Given the description of an element on the screen output the (x, y) to click on. 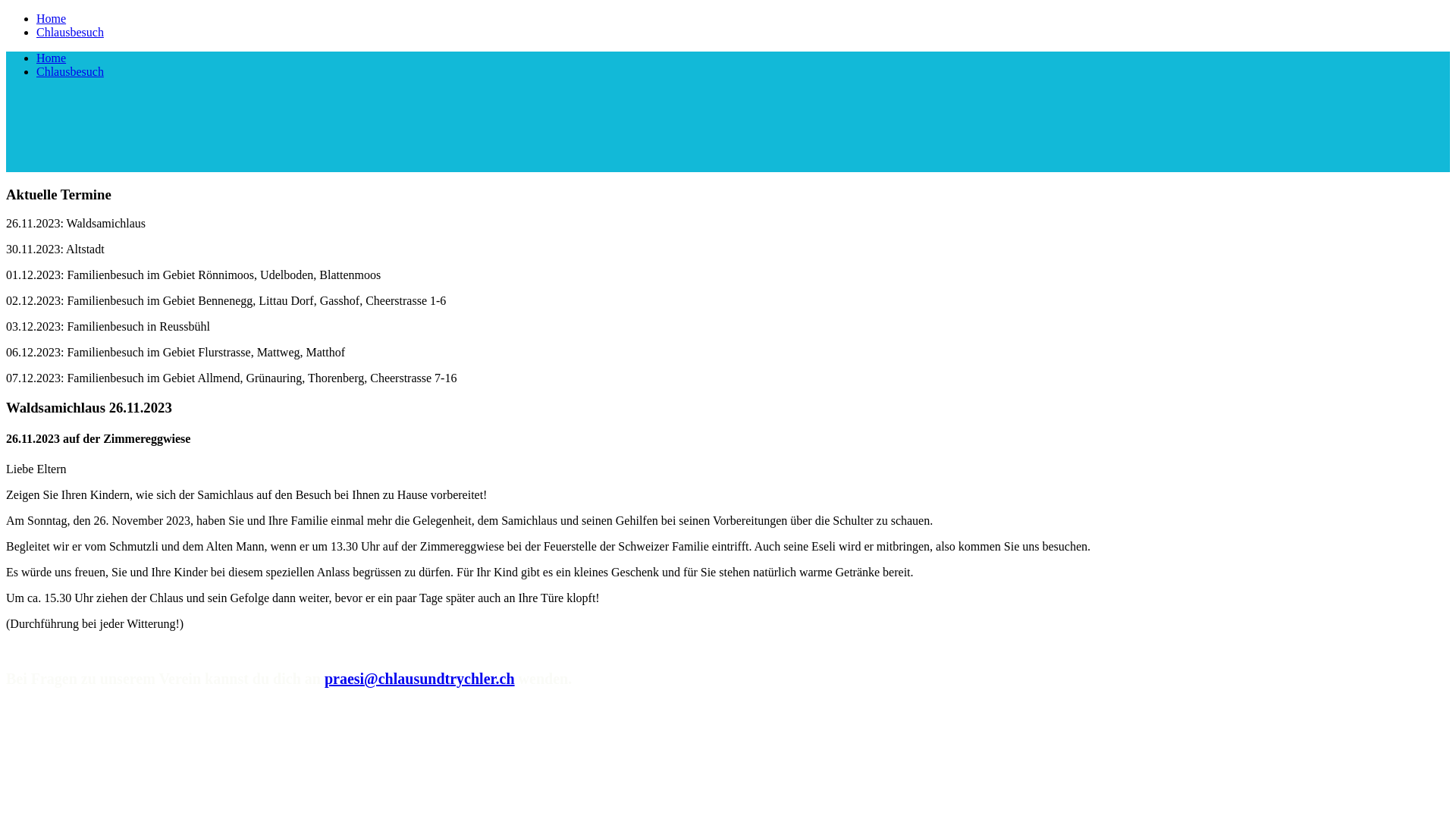
Home Element type: text (50, 57)
Chlausbesuch Element type: text (69, 71)
praesi@chlausundtrychler.ch Element type: text (419, 678)
Chlausbesuch Element type: text (69, 31)
Home Element type: text (50, 18)
